Given the description of an element on the screen output the (x, y) to click on. 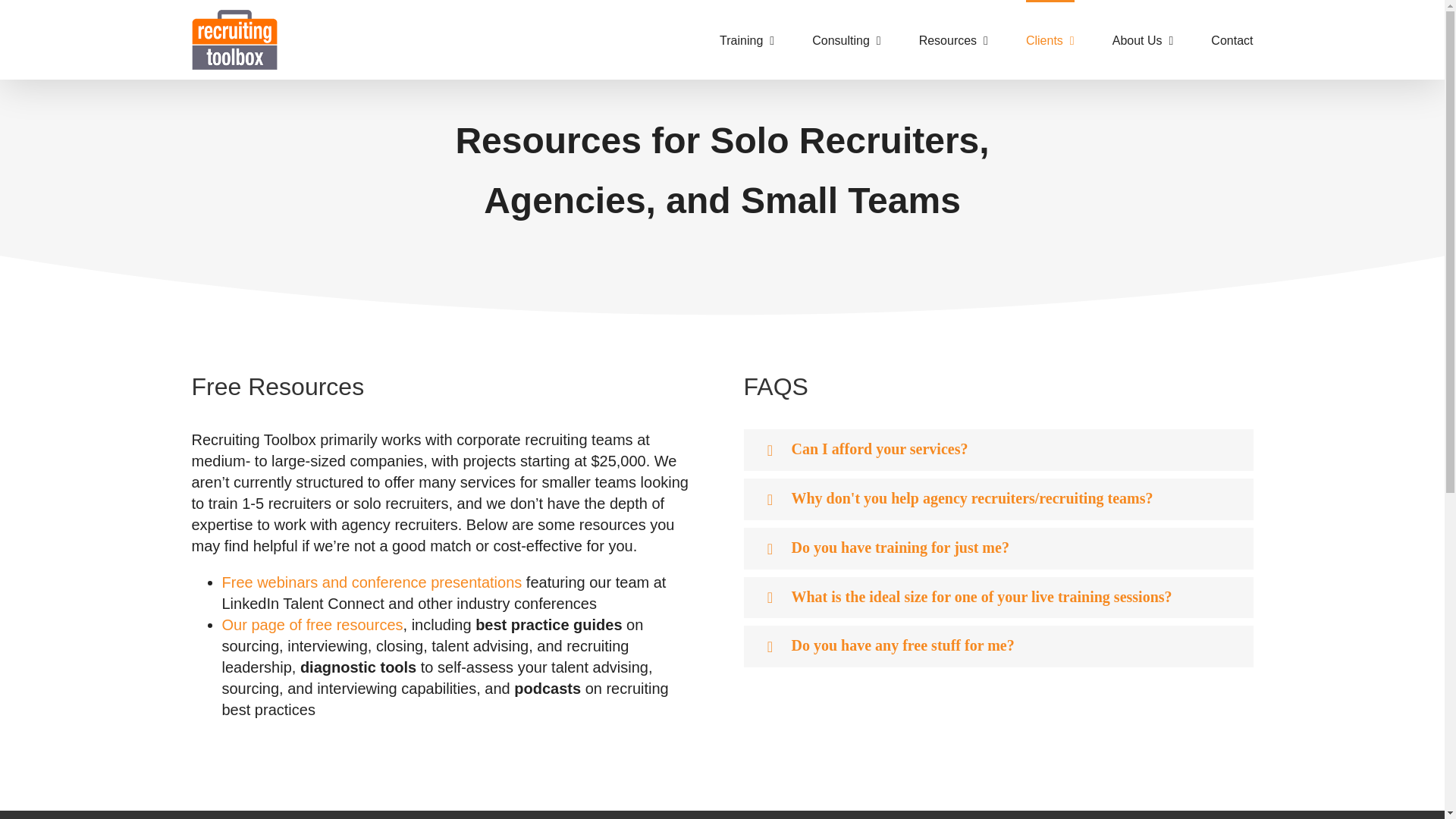
Clients (1050, 39)
Consulting (846, 39)
Resources (953, 39)
Training (746, 39)
